Given the description of an element on the screen output the (x, y) to click on. 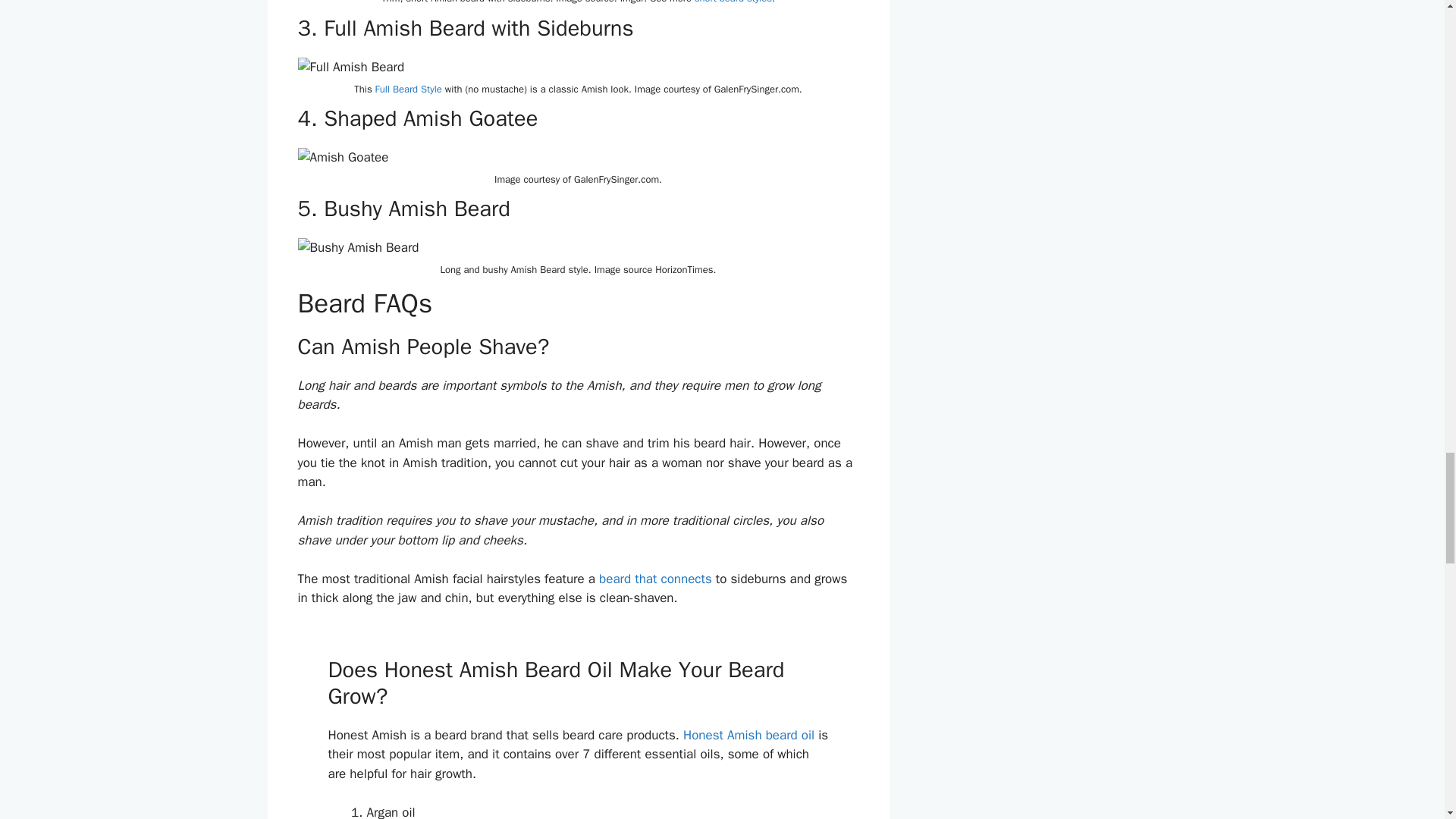
Amish Goatee (342, 157)
Full Amish Beard (350, 66)
Bushy Amish Beard (358, 247)
Honest Amish beard oil (747, 734)
Full Beard Style (408, 88)
short beard styles (732, 2)
beard that connects (654, 578)
